Given the description of an element on the screen output the (x, y) to click on. 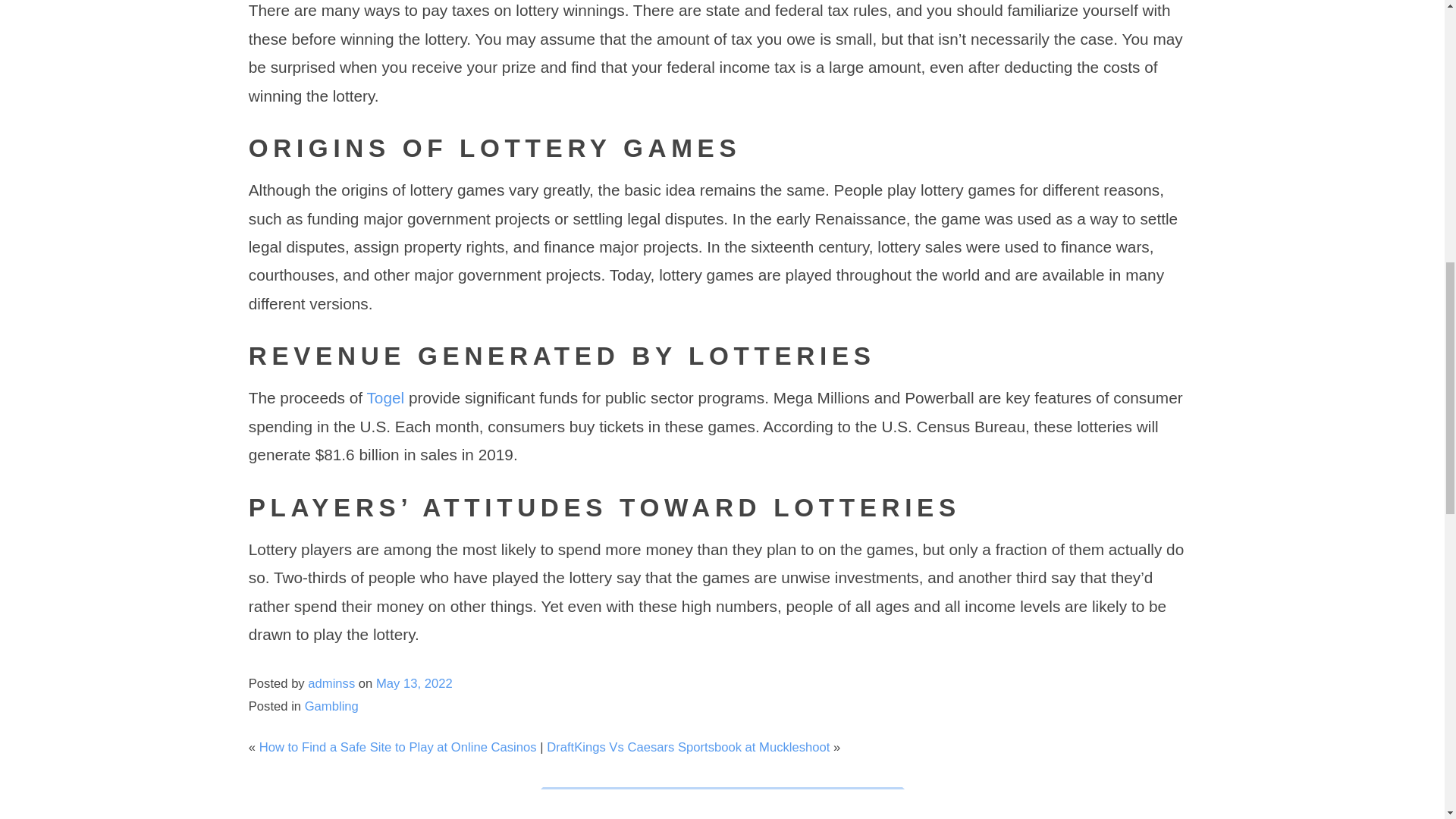
adminss (331, 683)
Gambling (331, 706)
How to Find a Safe Site to Play at Online Casinos (398, 747)
May 13, 2022 (413, 683)
Togel (385, 397)
DraftKings Vs Caesars Sportsbook at Muckleshoot (688, 747)
